Given the description of an element on the screen output the (x, y) to click on. 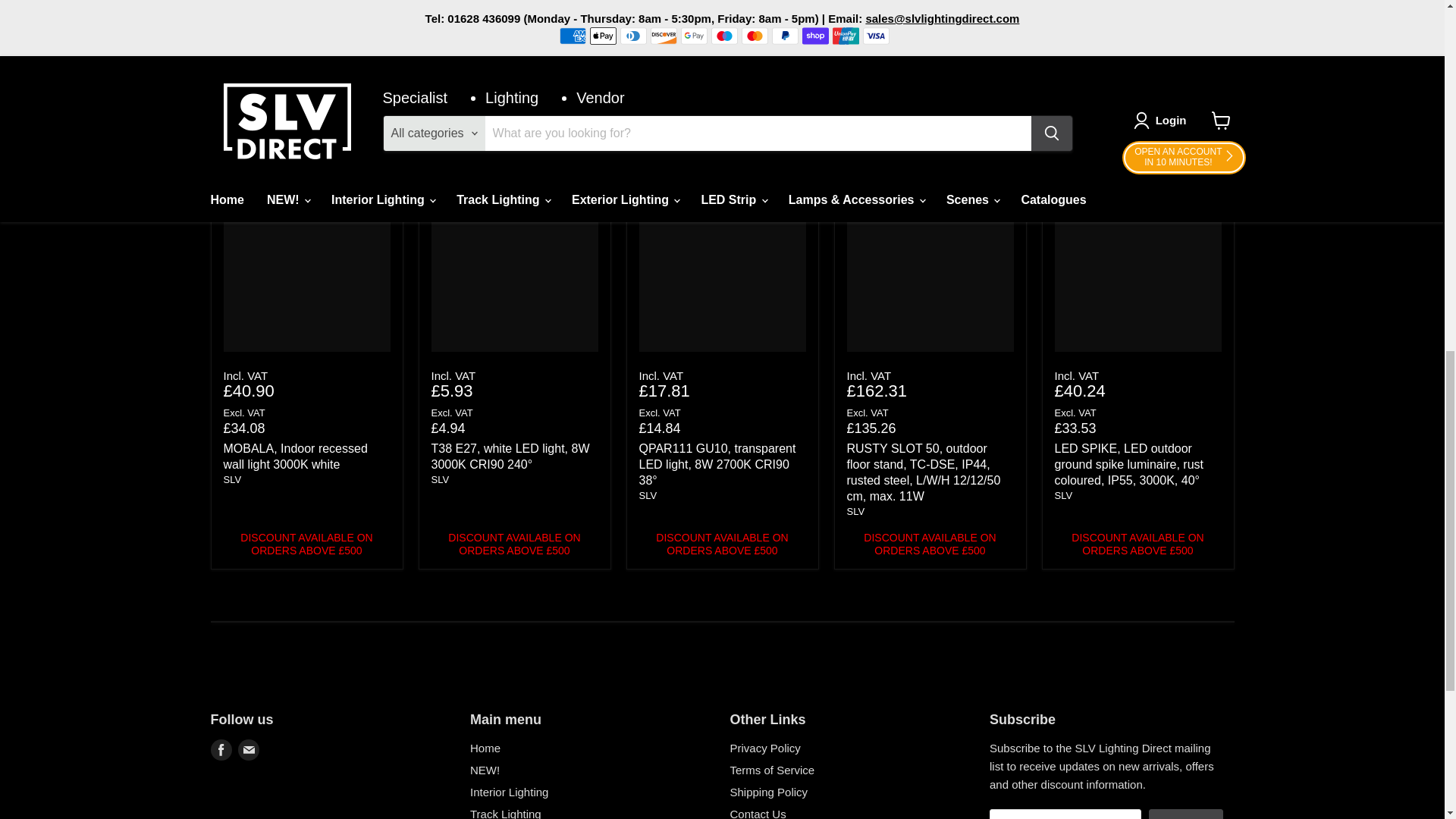
SLV (647, 495)
SLV (854, 511)
SLV (231, 479)
SLV (1062, 495)
Facebook (221, 749)
Email (248, 749)
SLV (439, 479)
